Given the description of an element on the screen output the (x, y) to click on. 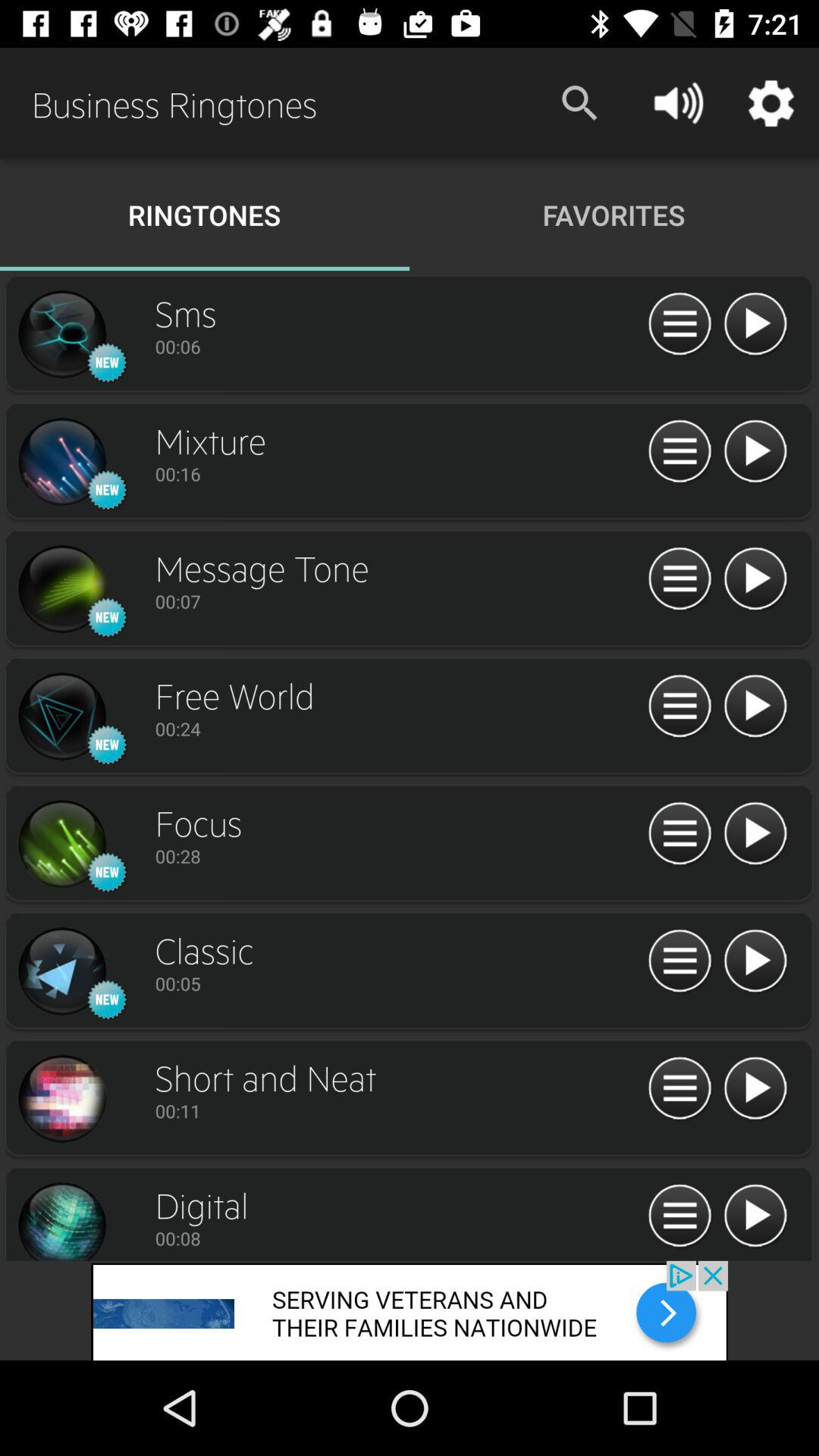
go to play option (755, 834)
